Given the description of an element on the screen output the (x, y) to click on. 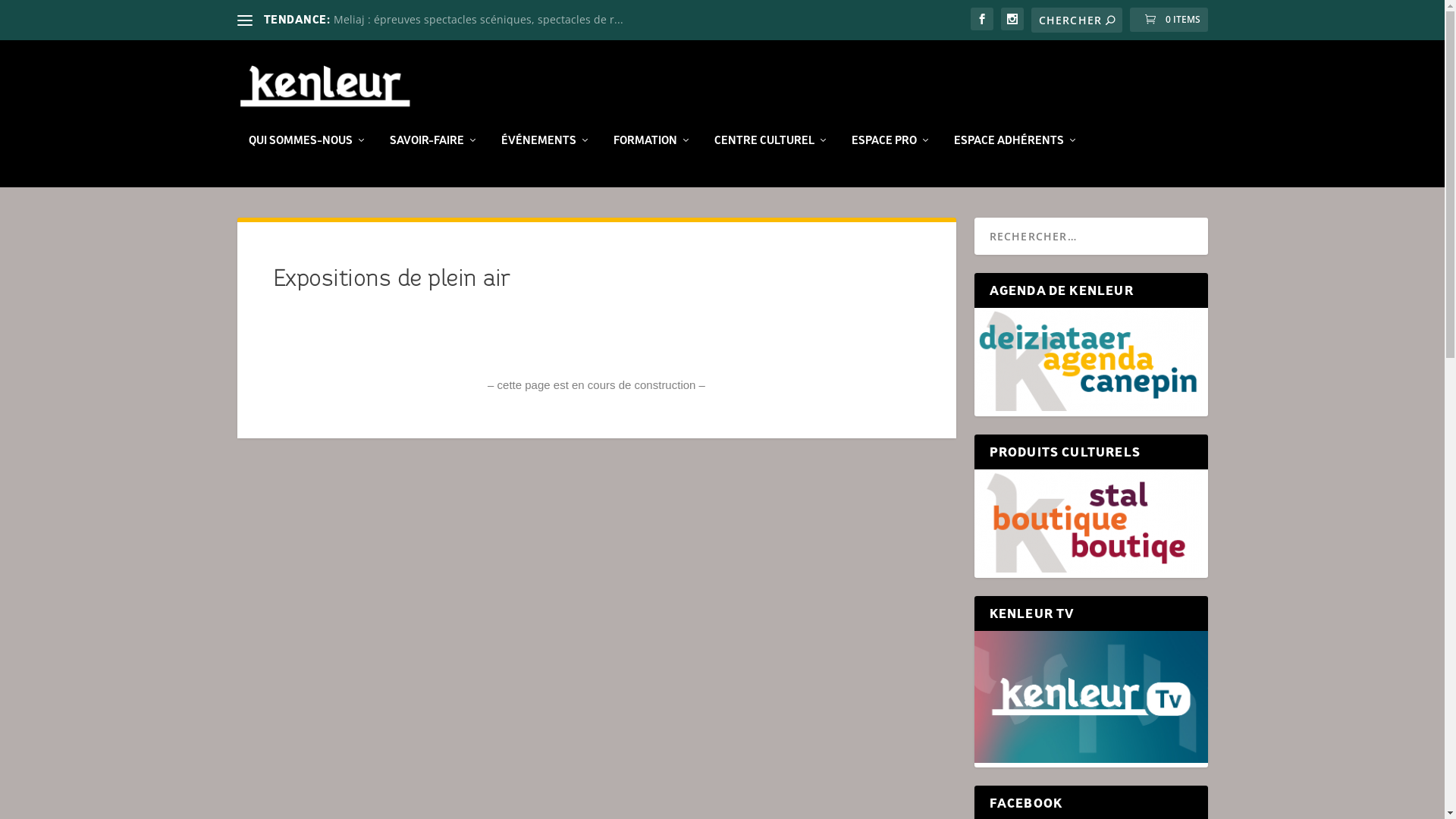
SAVOIR-FAIRE Element type: text (433, 160)
0 ITEMS Element type: text (1168, 19)
FORMATION Element type: text (651, 160)
CENTRE CULTUREL Element type: text (771, 160)
Rechercher Element type: text (43, 14)
ESPACE PRO Element type: text (890, 160)
Youtube Element type: hover (1090, 696)
Rechercher: Element type: hover (1076, 19)
QUI SOMMES-NOUS Element type: text (307, 160)
